Given the description of an element on the screen output the (x, y) to click on. 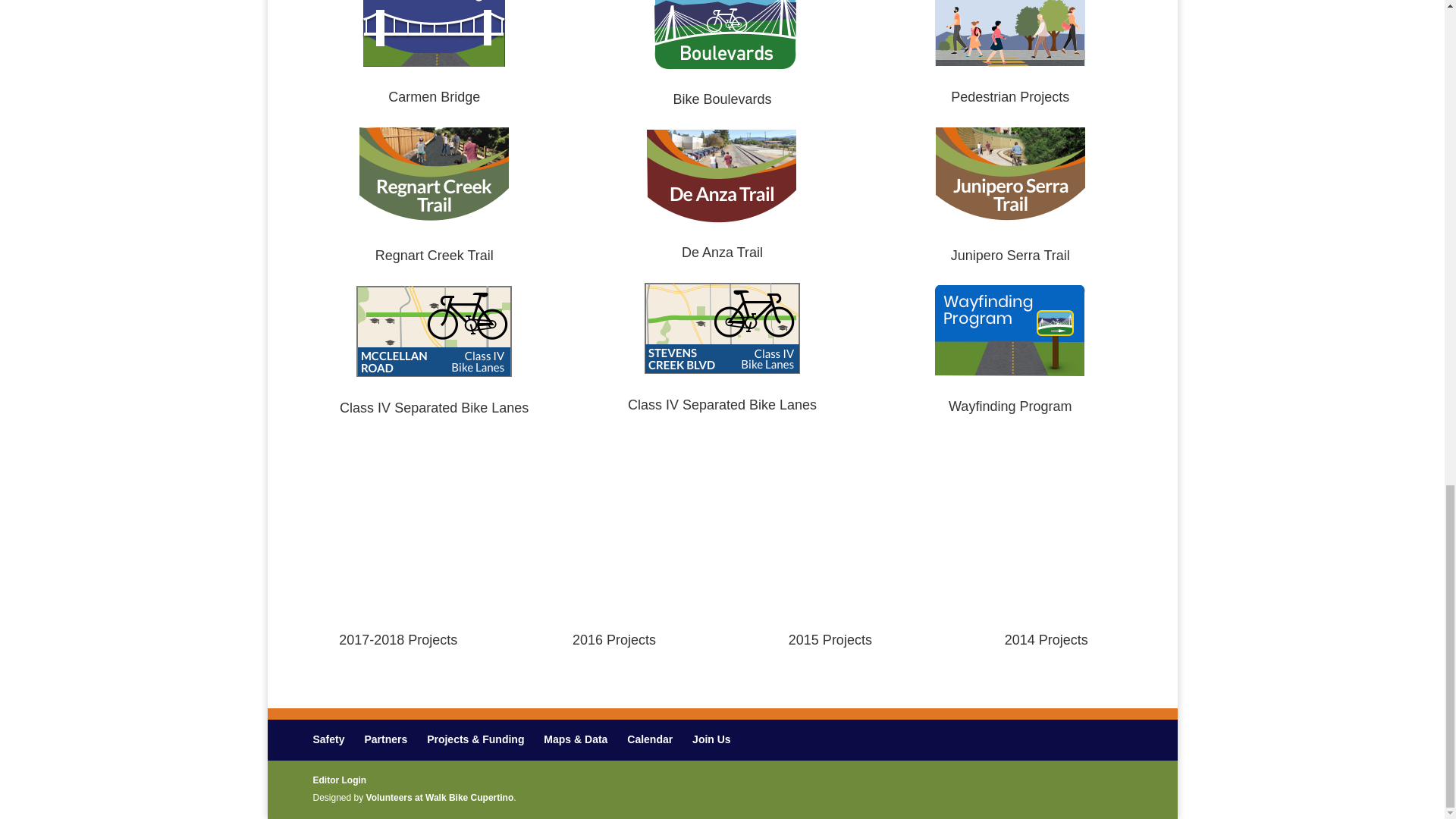
Wayfinding Program (1010, 406)
Carmen Bridge (434, 96)
Bike Boulevards (721, 99)
Junipero Serra Trail (1010, 255)
Class IV Separated Bike Lanes (721, 404)
Class IV Separated Bike Lanes (433, 407)
2016 Projects (614, 639)
Pedestrian Projects (1009, 96)
De Anza Trail (721, 252)
Regnart Creek Trail (434, 255)
